Given the description of an element on the screen output the (x, y) to click on. 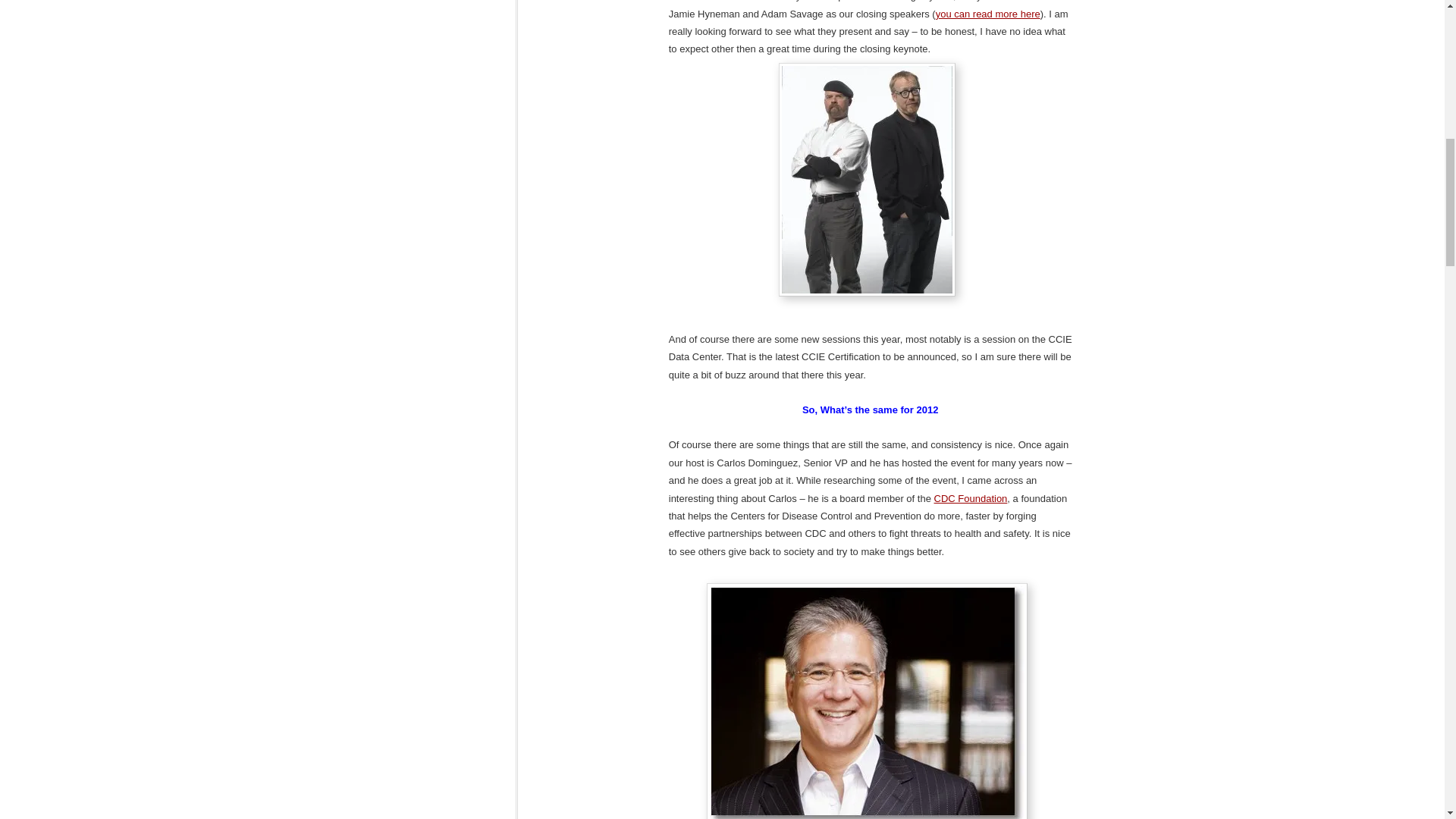
CDC Foundation (970, 498)
you can read more here (988, 13)
